Given the description of an element on the screen output the (x, y) to click on. 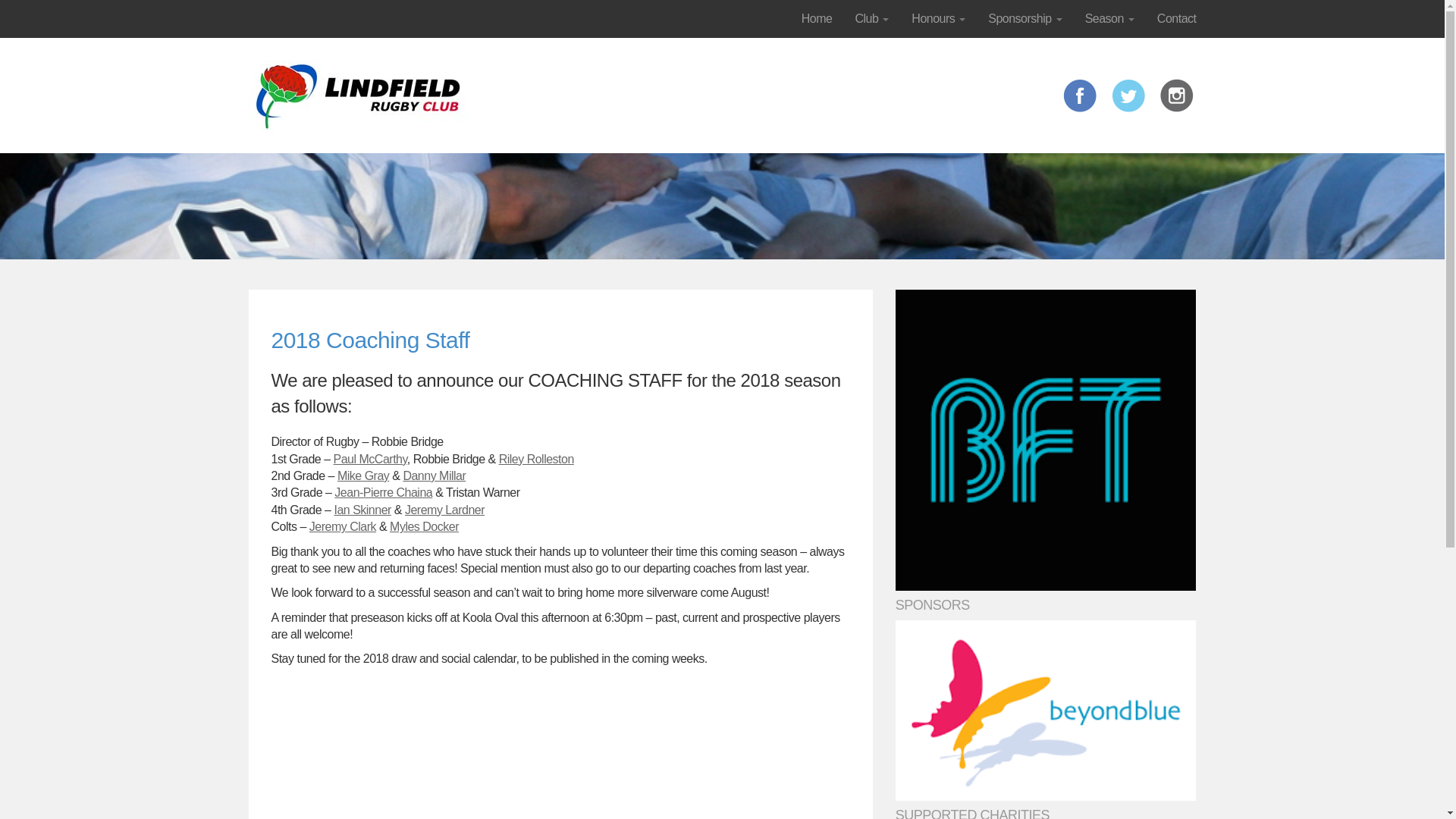
Club (871, 18)
Sponsorship (1024, 18)
Honours (937, 18)
Home (817, 18)
Season (1109, 18)
Contact (1176, 18)
Club (871, 18)
Honours (937, 18)
Home (817, 18)
